Given the description of an element on the screen output the (x, y) to click on. 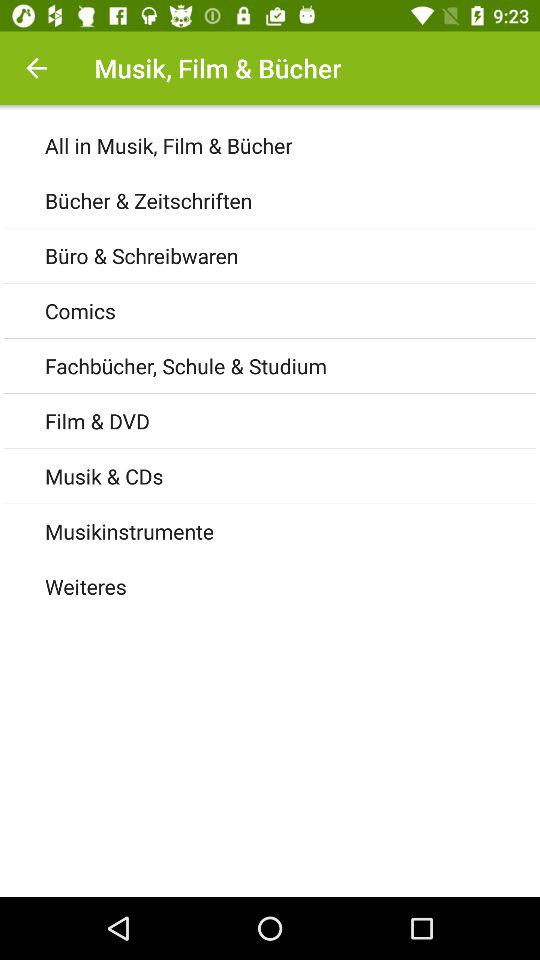
turn off the icon below film & dvd (292, 475)
